Given the description of an element on the screen output the (x, y) to click on. 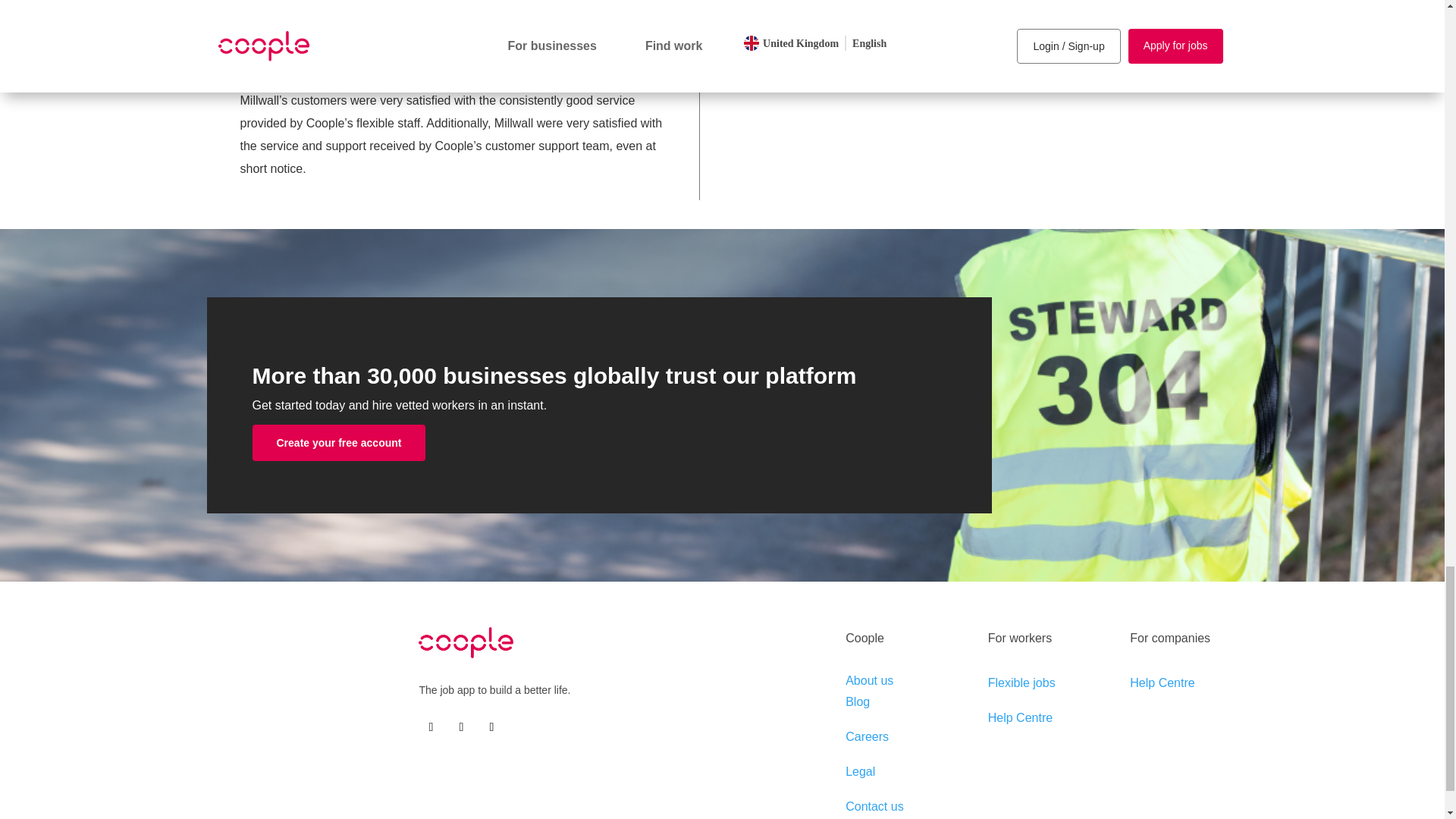
Follow on LinkedIn (460, 726)
Coople (466, 642)
Follow on Facebook (430, 726)
Follow on Instagram (491, 726)
